Given the description of an element on the screen output the (x, y) to click on. 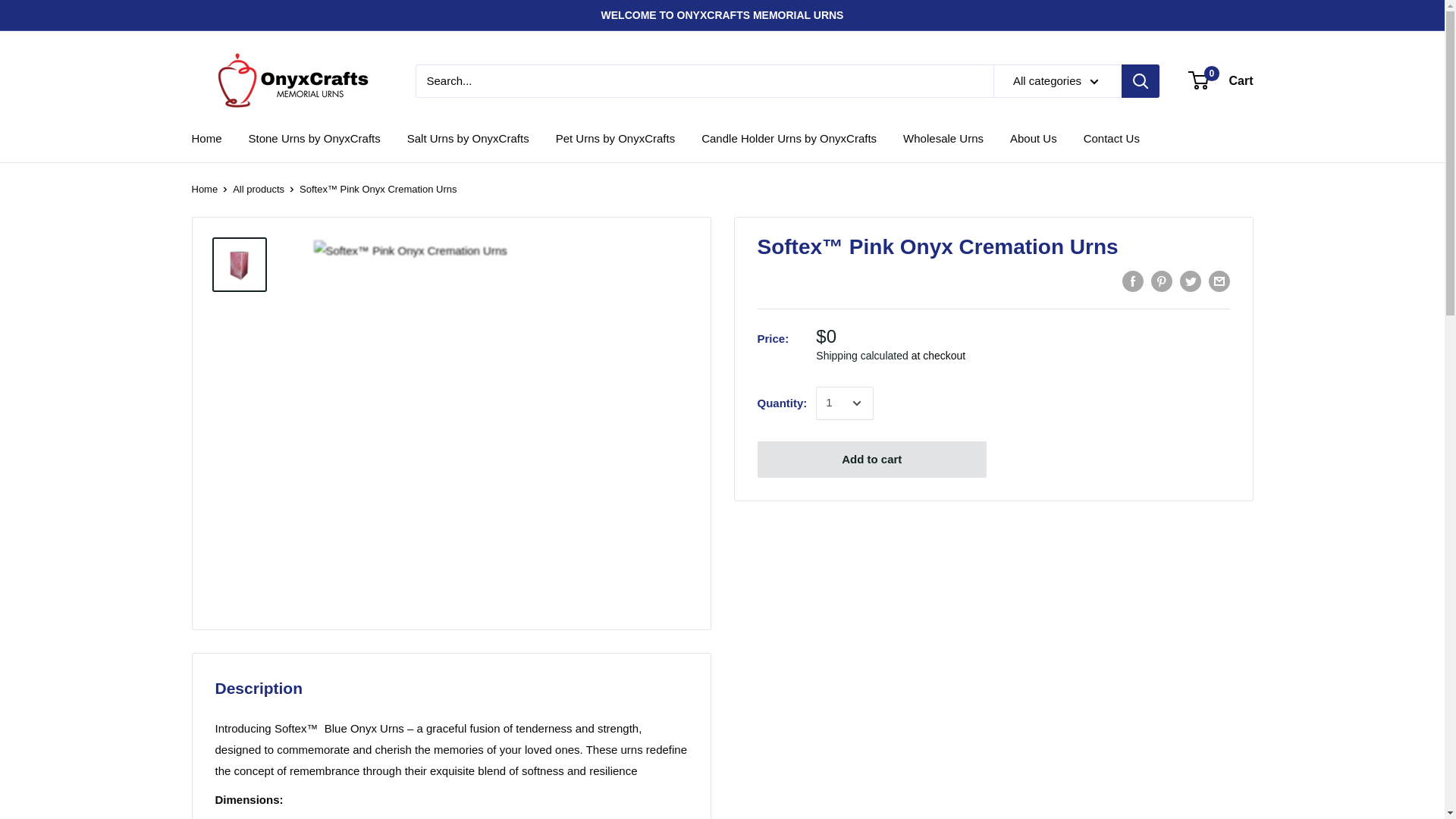
Home (205, 138)
Wholesale Urns (943, 138)
About Us (1033, 138)
Stone Urns by OnyxCrafts (314, 138)
Contact Us (1111, 138)
Pet Urns by OnyxCrafts (615, 138)
Home (203, 188)
Add to cart (872, 459)
All products (257, 188)
